Given the description of an element on the screen output the (x, y) to click on. 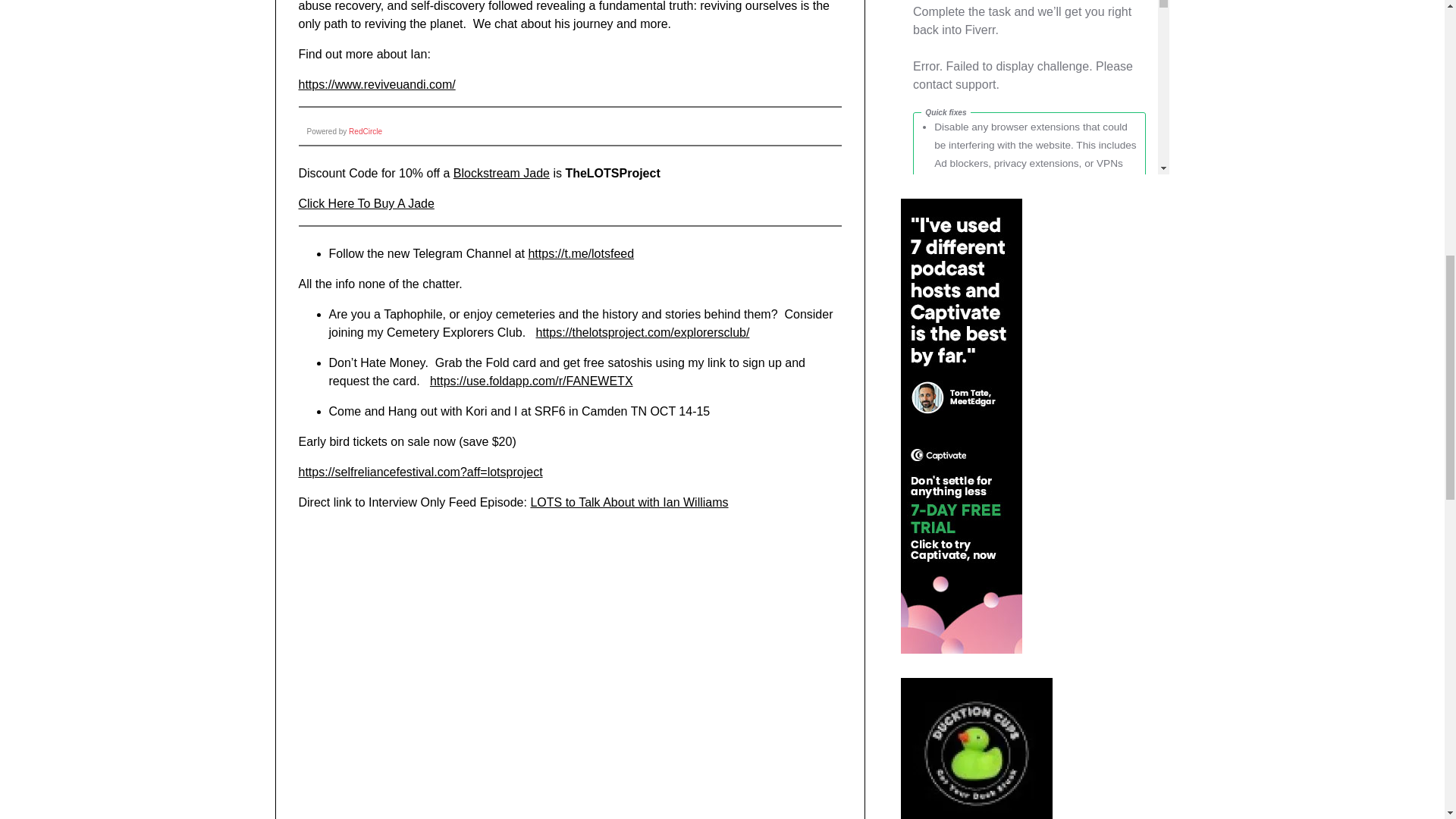
RedCircle (365, 131)
Podverse Embed Player (526, 588)
LOTS to Talk About with Ian Williams (541, 744)
Click Here To Buy A Jade (365, 203)
Blockstream Jade (501, 173)
